Given the description of an element on the screen output the (x, y) to click on. 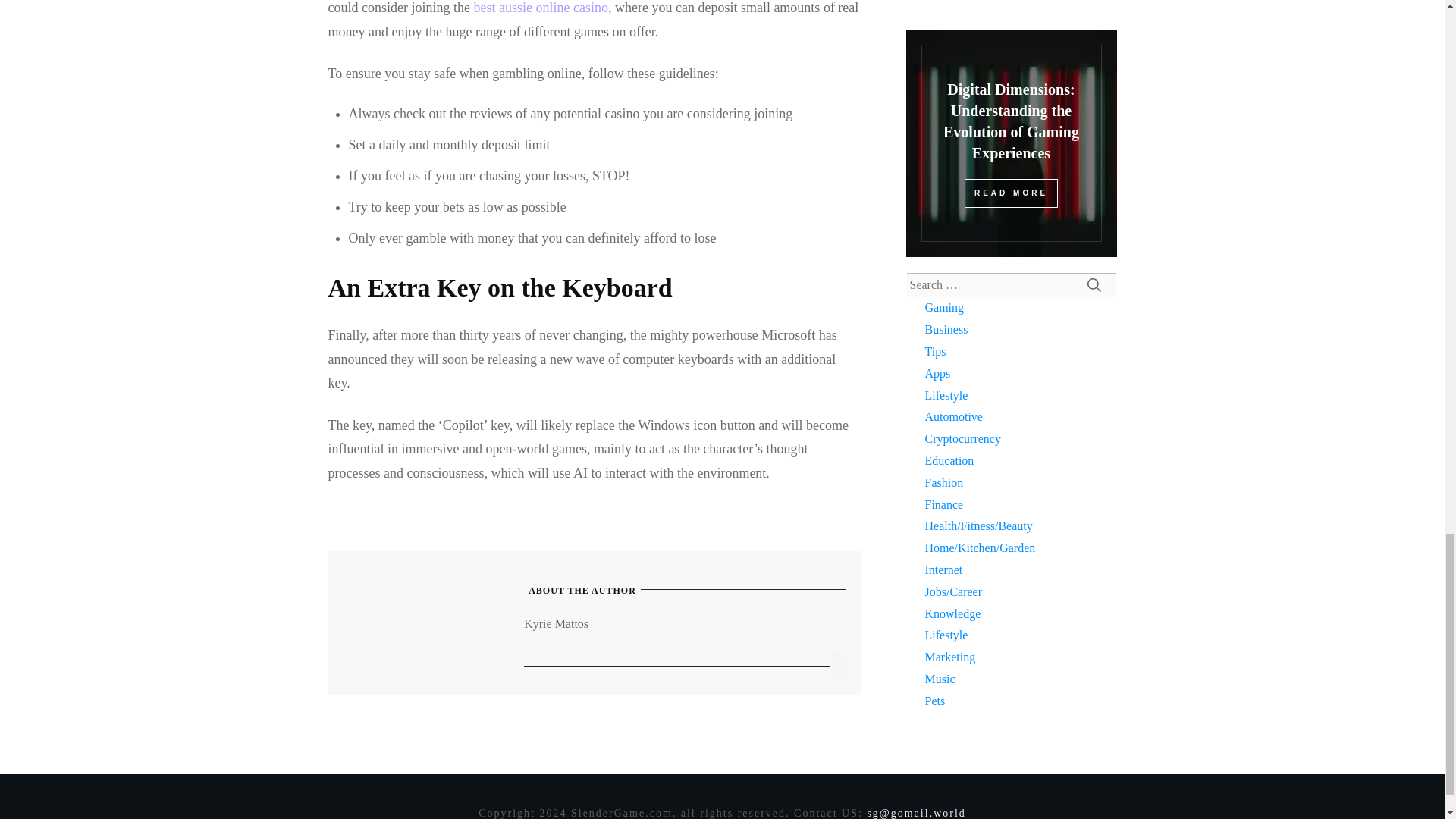
Search (1093, 284)
Business (946, 328)
Apps (937, 373)
Tips (935, 350)
Search (1093, 284)
best aussie online casino (540, 7)
Search (1093, 284)
READ MORE (1010, 193)
